Given the description of an element on the screen output the (x, y) to click on. 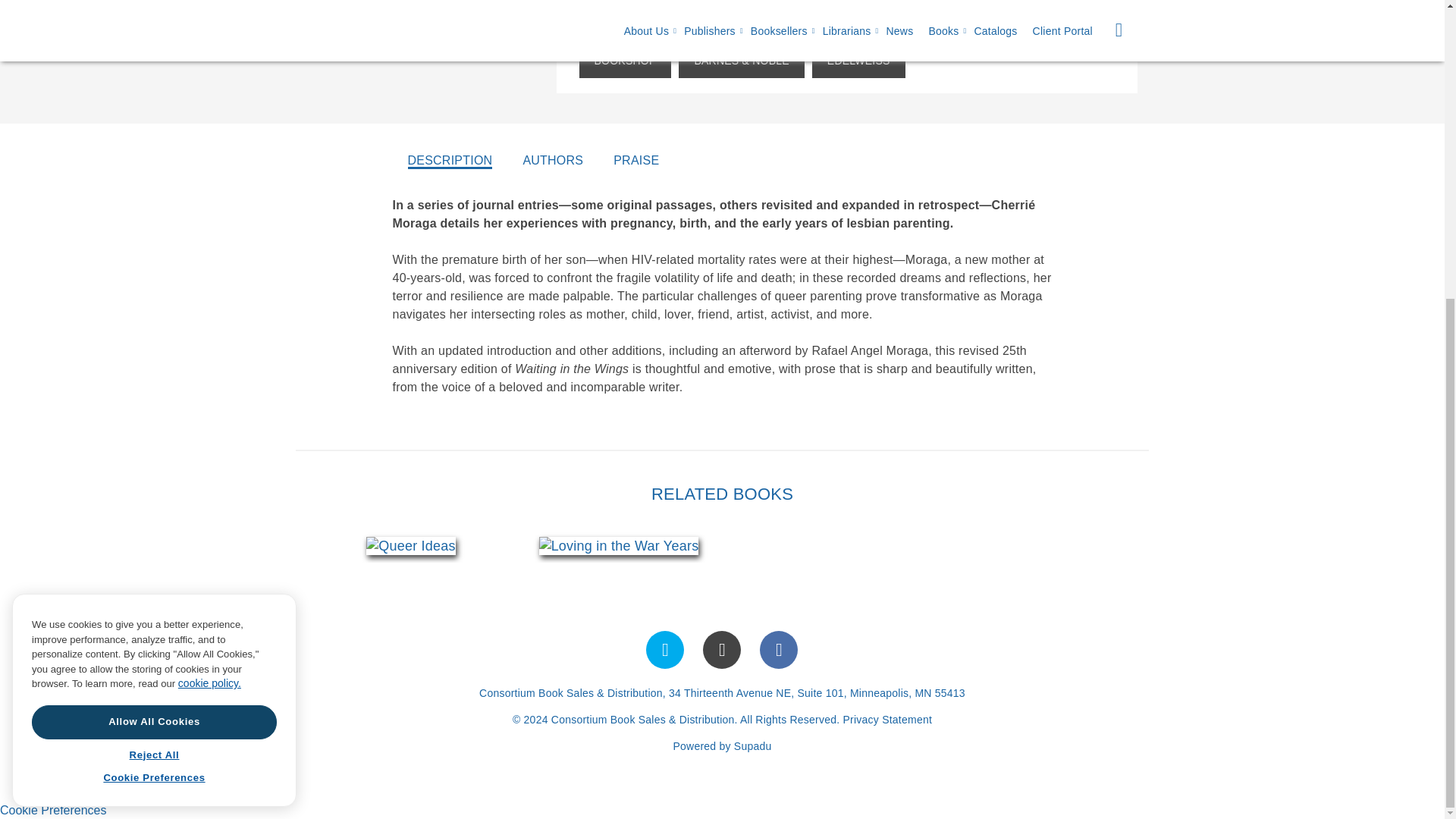
Bookshop (625, 60)
Loving in the War Years (618, 546)
Follow us on Facebook (778, 649)
Edelweiss (858, 60)
Queer Ideas (410, 546)
isbn-carousel (514, 545)
Follow us on Instagram (722, 649)
